Given the description of an element on the screen output the (x, y) to click on. 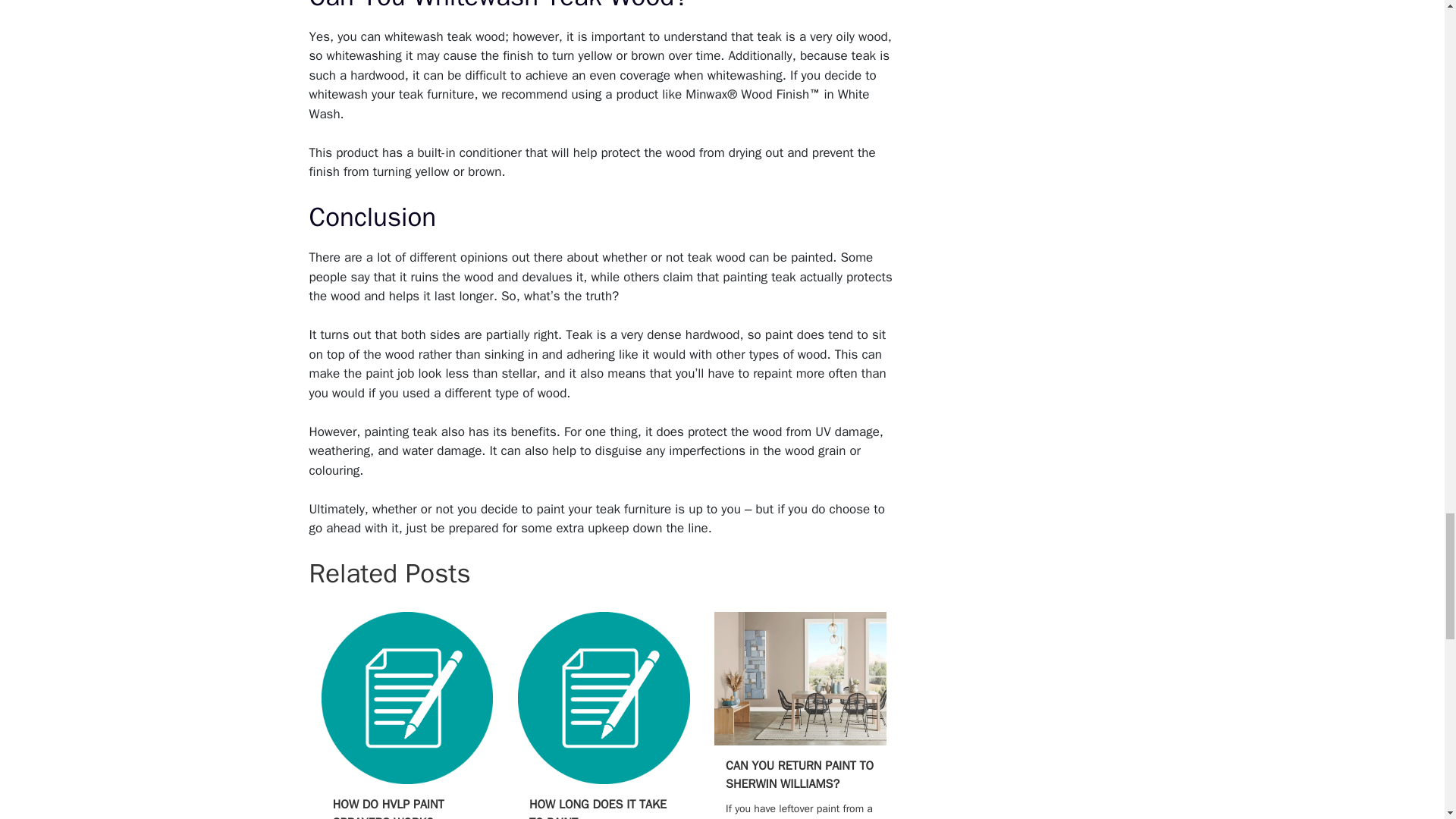
HOW DO HVLP PAINT SPRAYERS WORK? (388, 807)
CAN YOU RETURN PAINT TO SHERWIN WILLIAMS? (799, 774)
HOW LONG DOES IT TAKE TO PAINT... (597, 807)
